Given the description of an element on the screen output the (x, y) to click on. 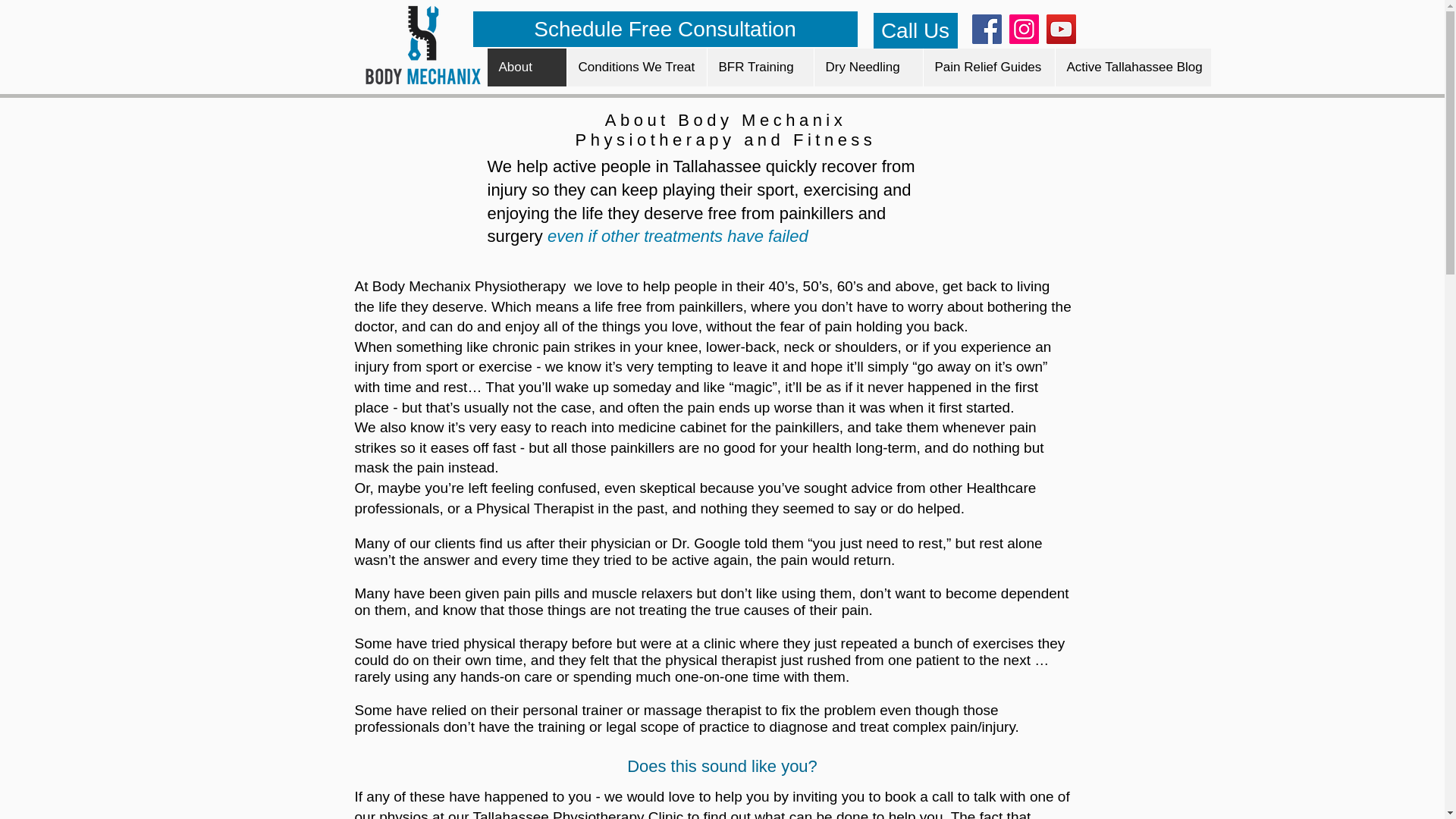
Dry Needling (866, 67)
About (526, 67)
BFR Training (759, 67)
Conditions We Treat (636, 67)
Pain Relief Guides (987, 67)
Active Tallahassee Blog (1131, 67)
Call Us (915, 30)
Schedule Free Consultation (665, 28)
